Given the description of an element on the screen output the (x, y) to click on. 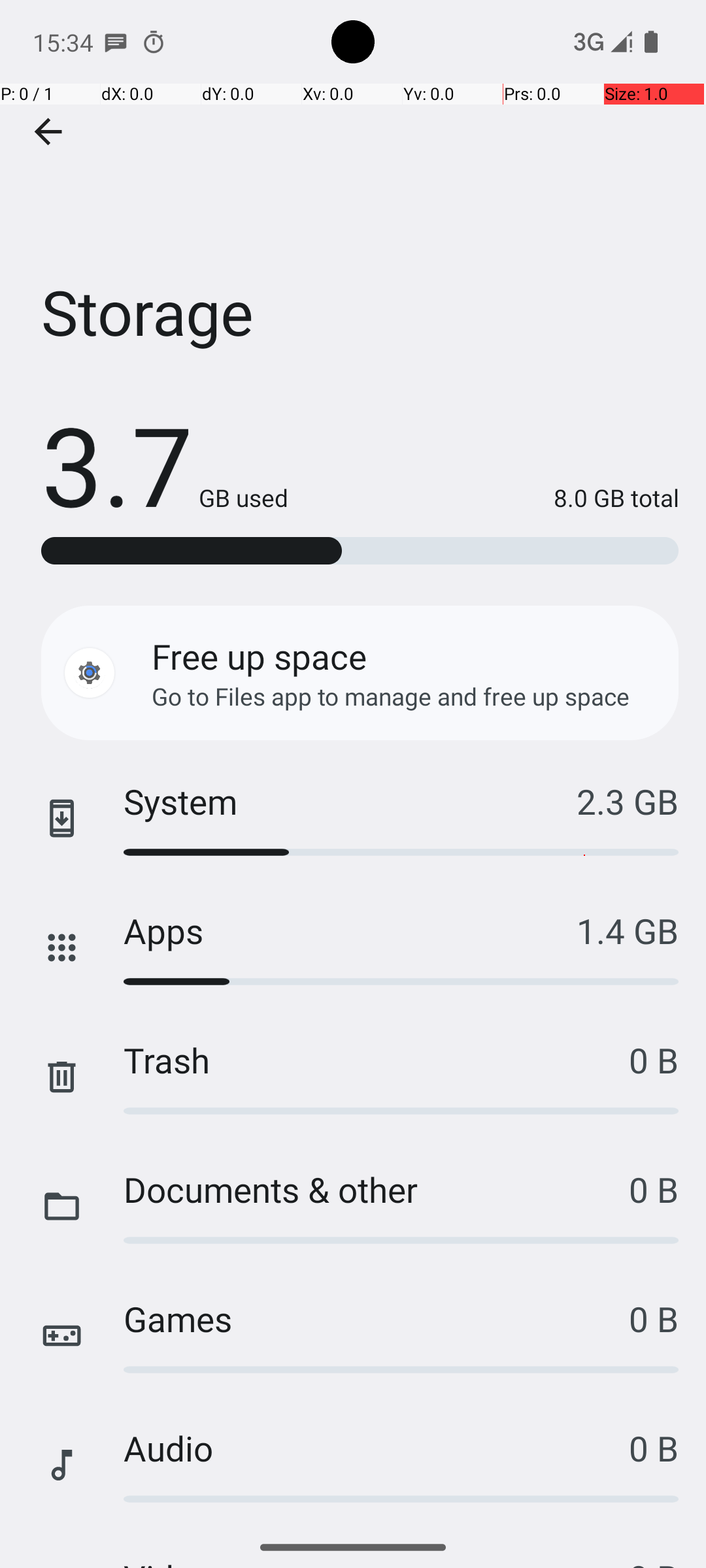
3.7 GB used Element type: android.widget.TextView (164, 463)
